Given the description of an element on the screen output the (x, y) to click on. 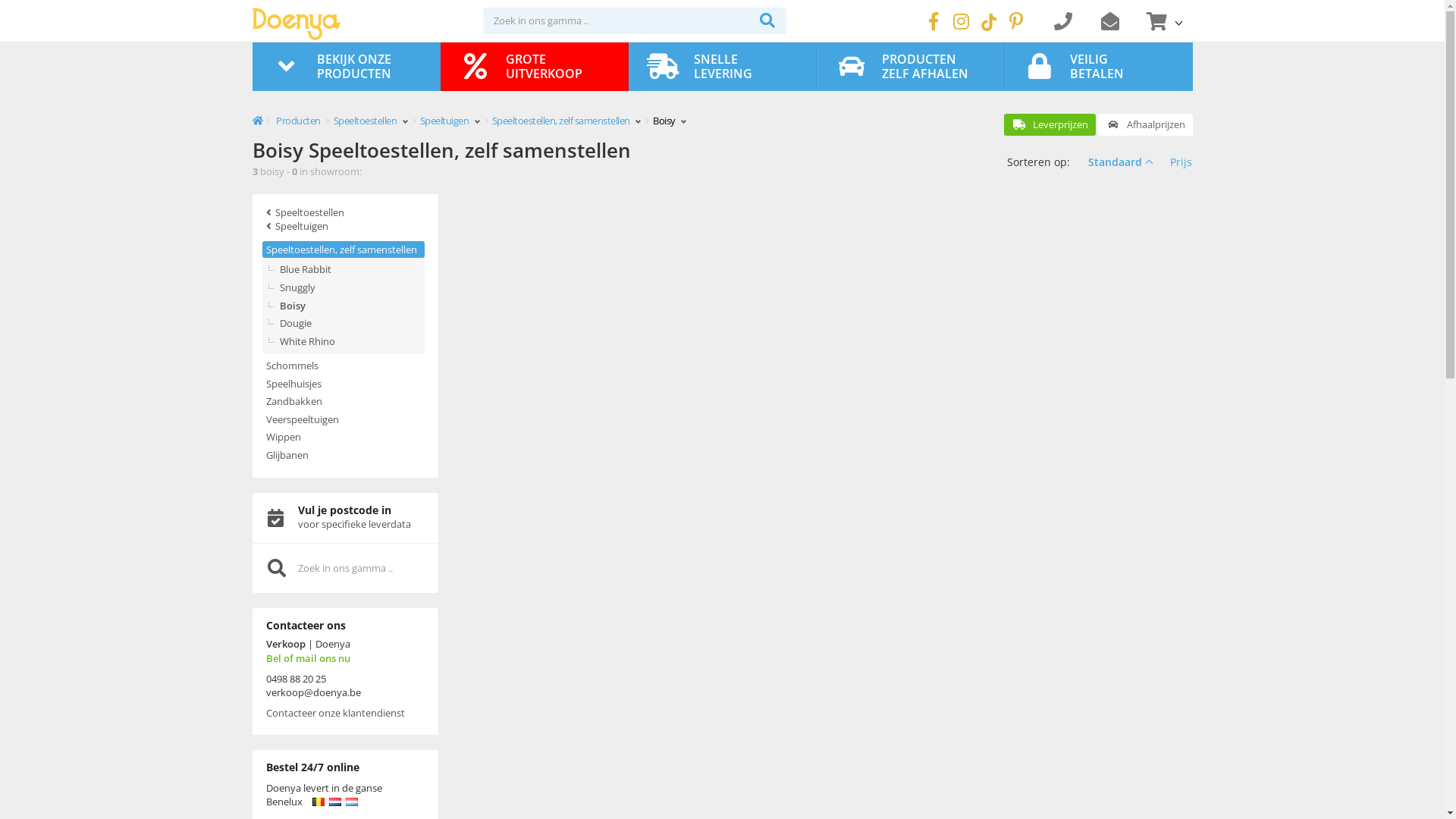
Nederland Element type: hover (335, 801)
Zoeken Element type: hover (767, 20)
Boisy Element type: text (351, 305)
Bekijk je winkelwagen Element type: hover (1162, 20)
Snuggly Element type: text (351, 287)
Wippen Element type: text (344, 436)
White Rhino Element type: text (351, 341)
GROTE
UITVERKOOP Element type: text (534, 66)
Schommels Element type: text (344, 365)
Vul je postcode in
voor specifieke leverdata Element type: text (344, 517)
BEKIJK ONZE
PRODUCTEN Element type: text (345, 66)
SNELLE
LEVERING Element type: text (722, 66)
Glijbanen Element type: text (344, 455)
Speeltoestellen Element type: text (370, 120)
Speeltuigen Element type: text (449, 120)
Speeltoestellen Element type: text (344, 212)
Afhaalprijzen Element type: text (1145, 124)
Contacteer onze klantendienst Element type: text (344, 713)
Producten Element type: text (298, 120)
Dougie Element type: text (351, 323)
Leverprijzen Element type: text (1049, 124)
Speeltoestellen, zelf samenstellen Element type: text (343, 249)
VEILIG
BETALEN Element type: text (1098, 66)
Veerspeeltuigen Element type: text (344, 419)
Speeltuigen Element type: text (344, 226)
Zandbakken Element type: text (344, 401)
Blue Rabbit Element type: text (351, 269)
Luxemburg Element type: hover (351, 801)
PRODUCTEN
ZELF AFHALEN Element type: text (910, 66)
Speelhuisjes Element type: text (344, 383)
Speeltoestellen, zelf samenstellen Element type: text (565, 120)
